Given the description of an element on the screen output the (x, y) to click on. 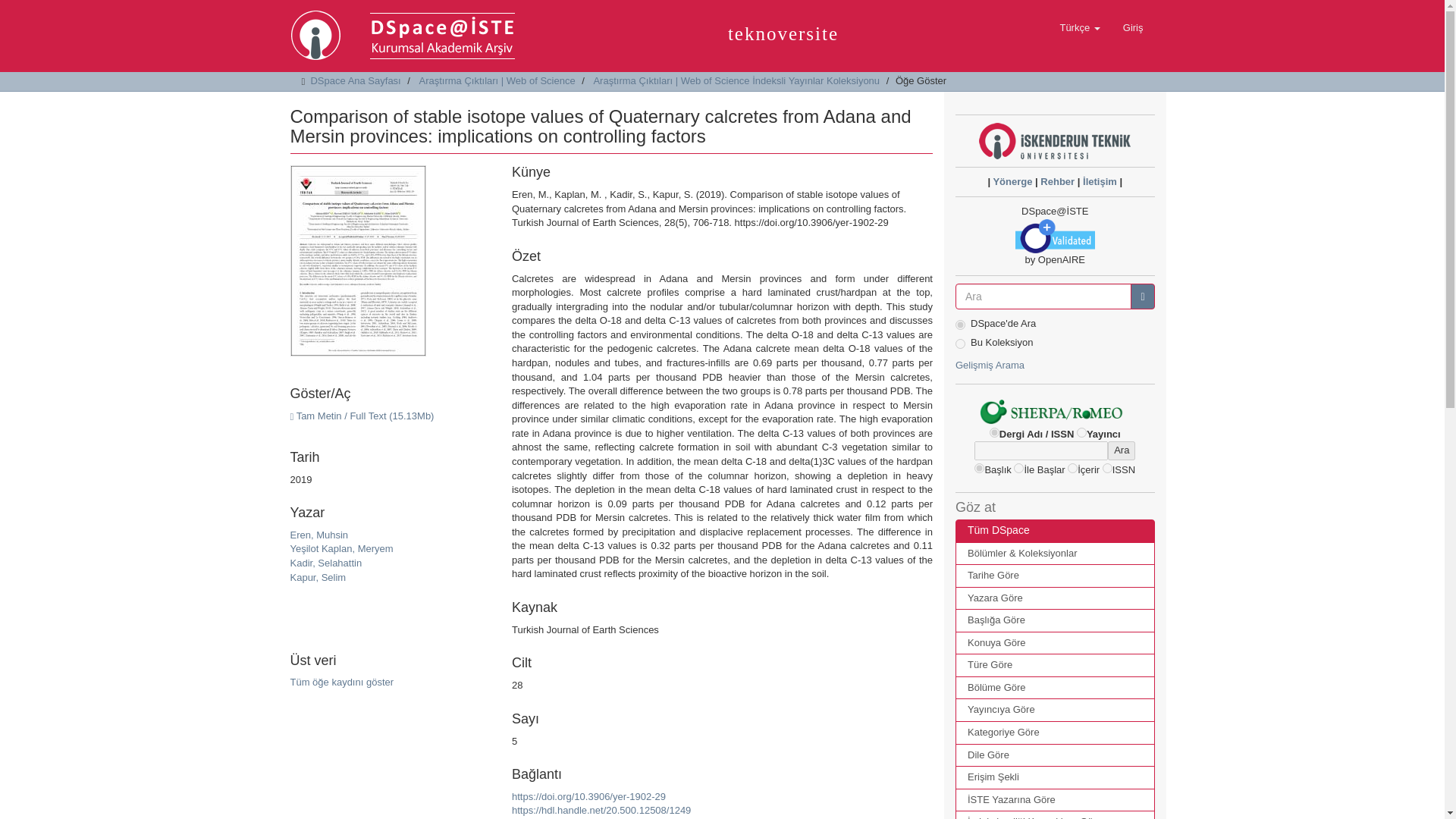
CONTAINS (1072, 468)
STARTS (1018, 468)
Kapur, Selim (317, 577)
ISSN (1107, 468)
journal (994, 432)
Kadir, Selahattin (325, 562)
Eren, Muhsin (318, 534)
Rehber (1057, 181)
EXACT (979, 468)
Bul (1142, 296)
